Given the description of an element on the screen output the (x, y) to click on. 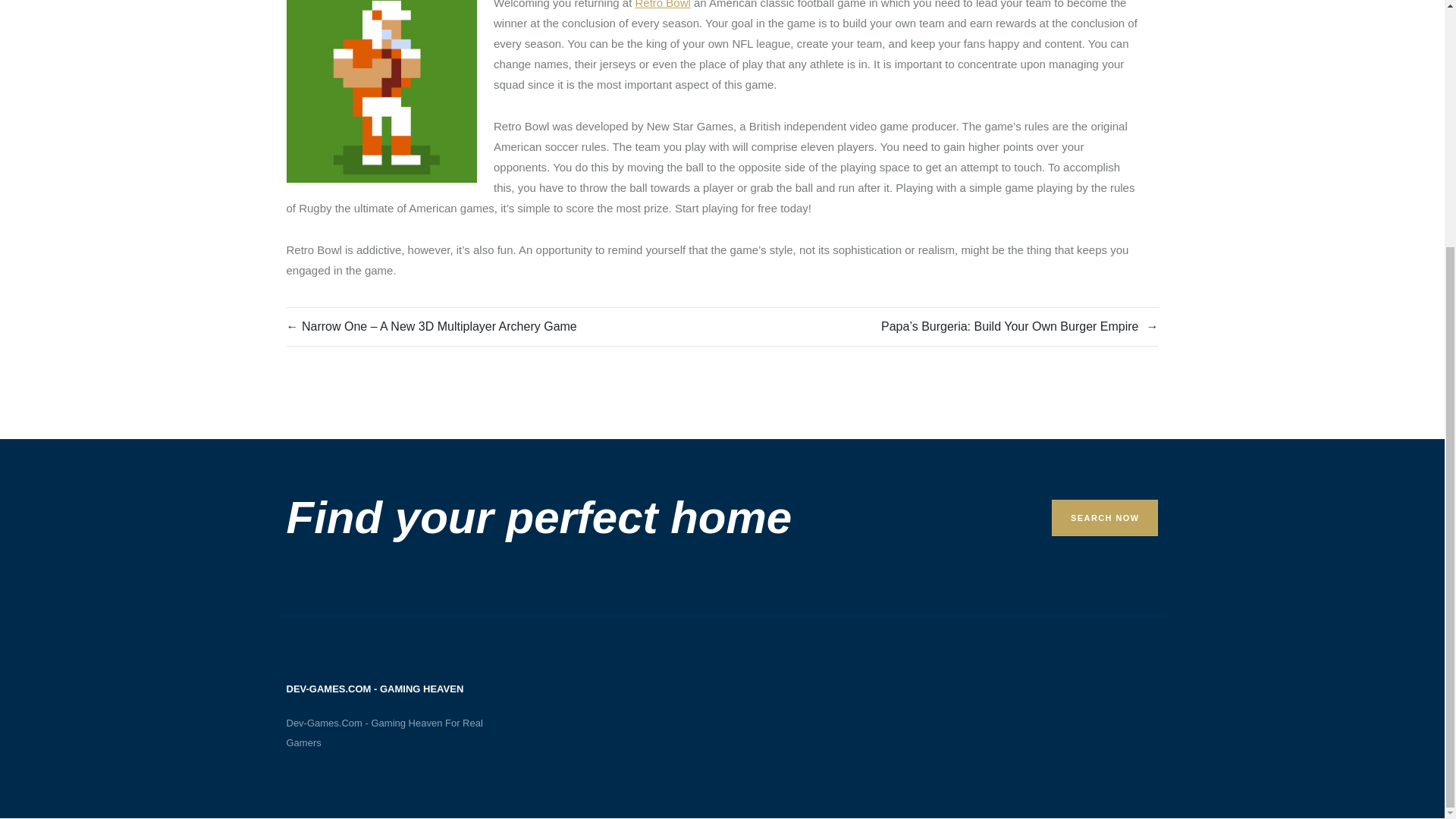
Retro Bowl (662, 6)
SEARCH NOW (1104, 517)
